Given the description of an element on the screen output the (x, y) to click on. 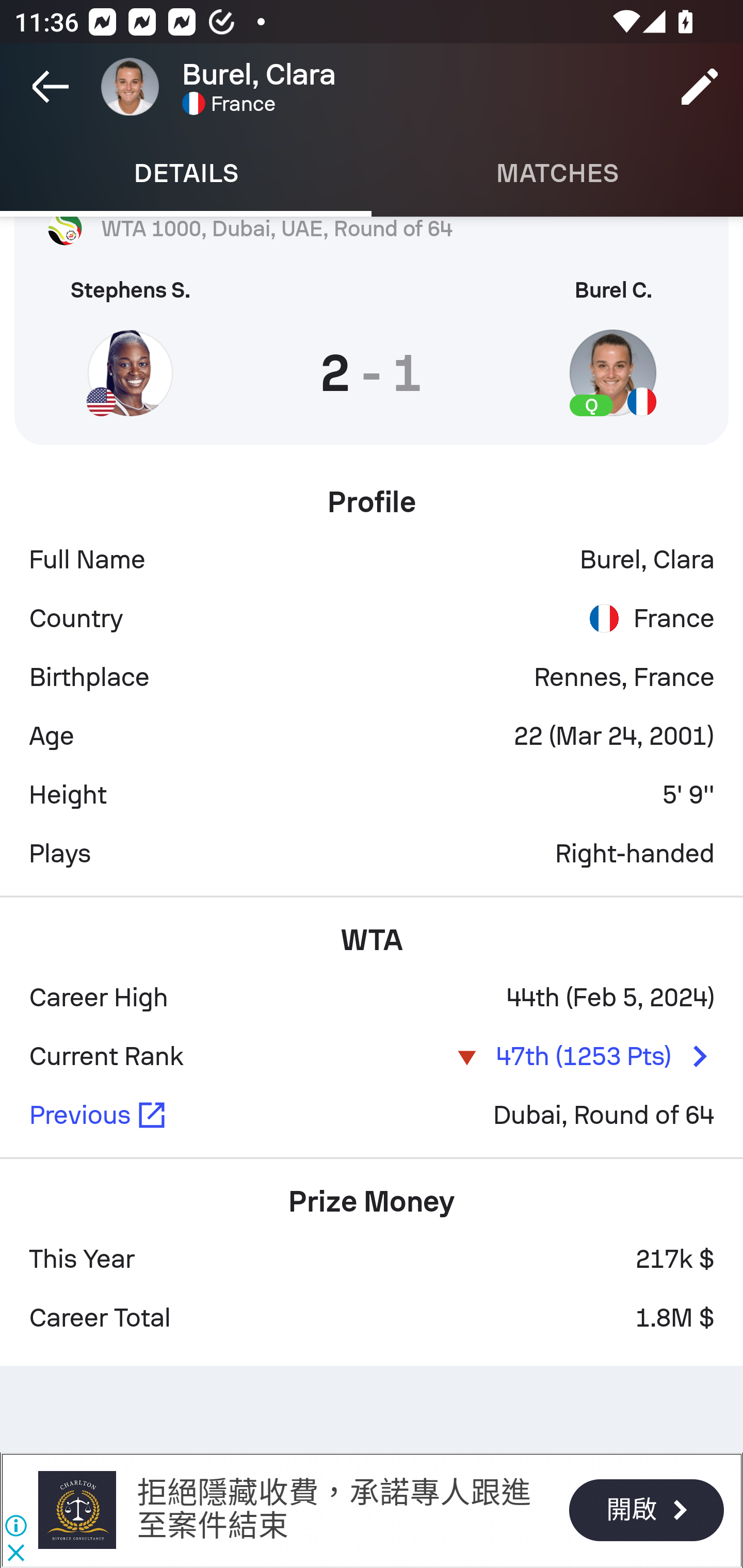
Navigate up (50, 86)
Edit (699, 86)
Matches MATCHES (557, 173)
Current Rank 47th (1253 Pts) (371, 1056)
Previous Dubai, Round of 64 (371, 1114)
查爾頓事務所 (76, 1509)
開啟 (645, 1509)
